Given the description of an element on the screen output the (x, y) to click on. 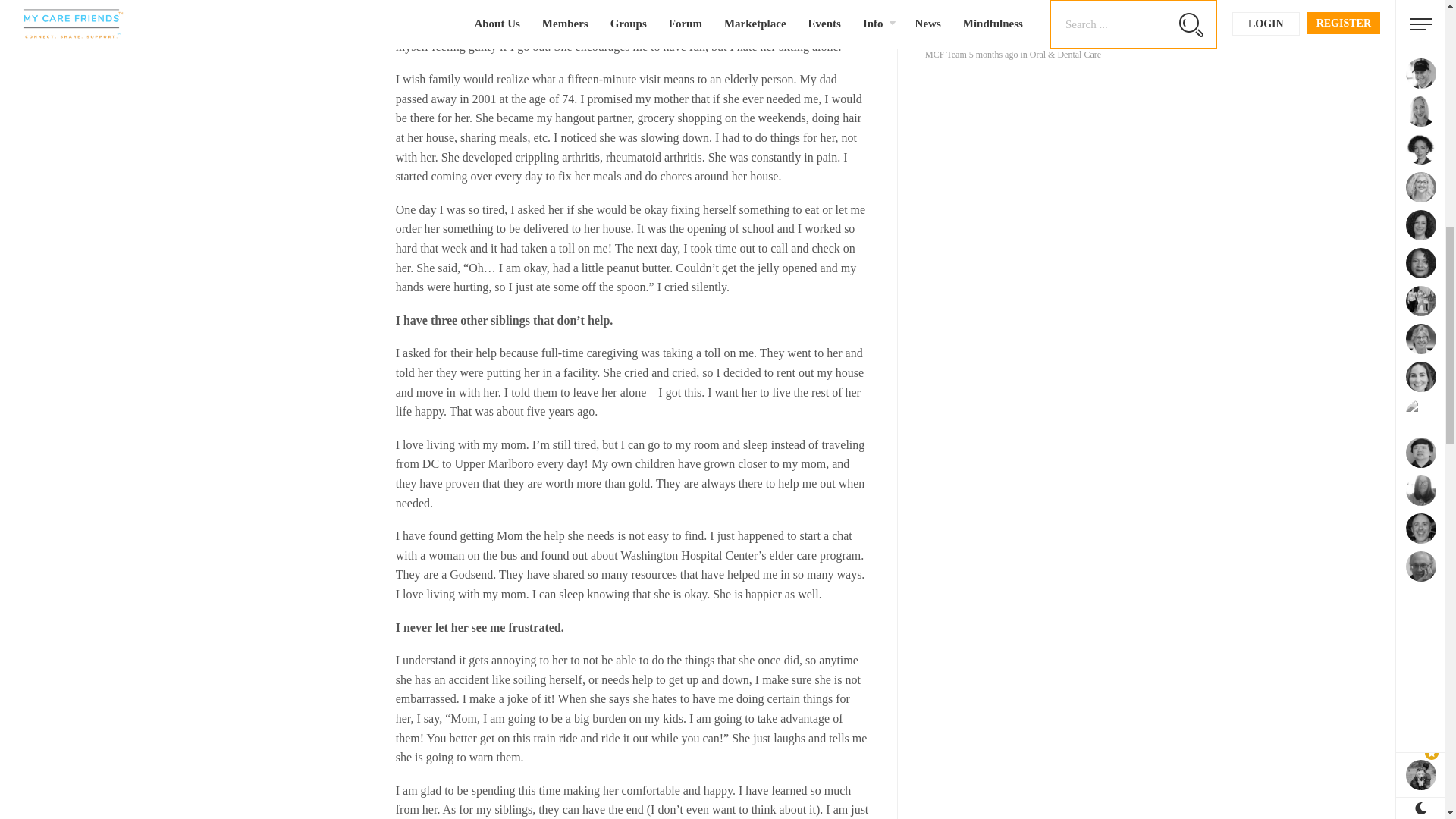
Guide to Oral Health for Seniors (1046, 38)
View MCF Team's profile (945, 54)
Reply To: OC Test (995, 2)
Guide to Oral Health for Seniors (993, 54)
View Jack Salvador's profile (949, 2)
